Given the description of an element on the screen output the (x, y) to click on. 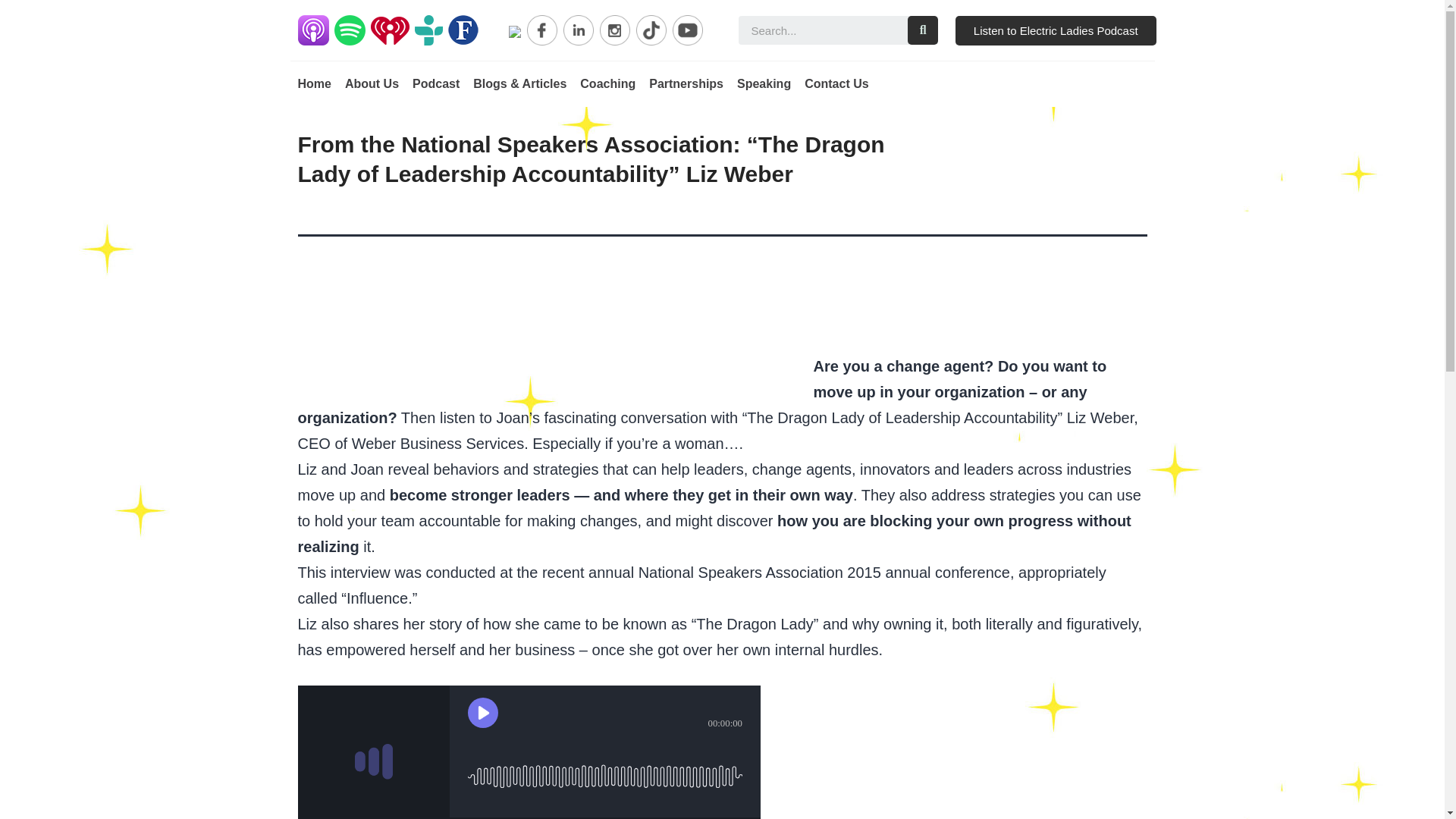
Partnerships (686, 83)
Contact Us (836, 83)
Listen to Electric Ladies Podcast (1055, 30)
Search (822, 30)
Home (313, 83)
Speaking (763, 83)
Search (922, 30)
Podcast (436, 83)
Coaching (606, 83)
About Us (371, 83)
